Given the description of an element on the screen output the (x, y) to click on. 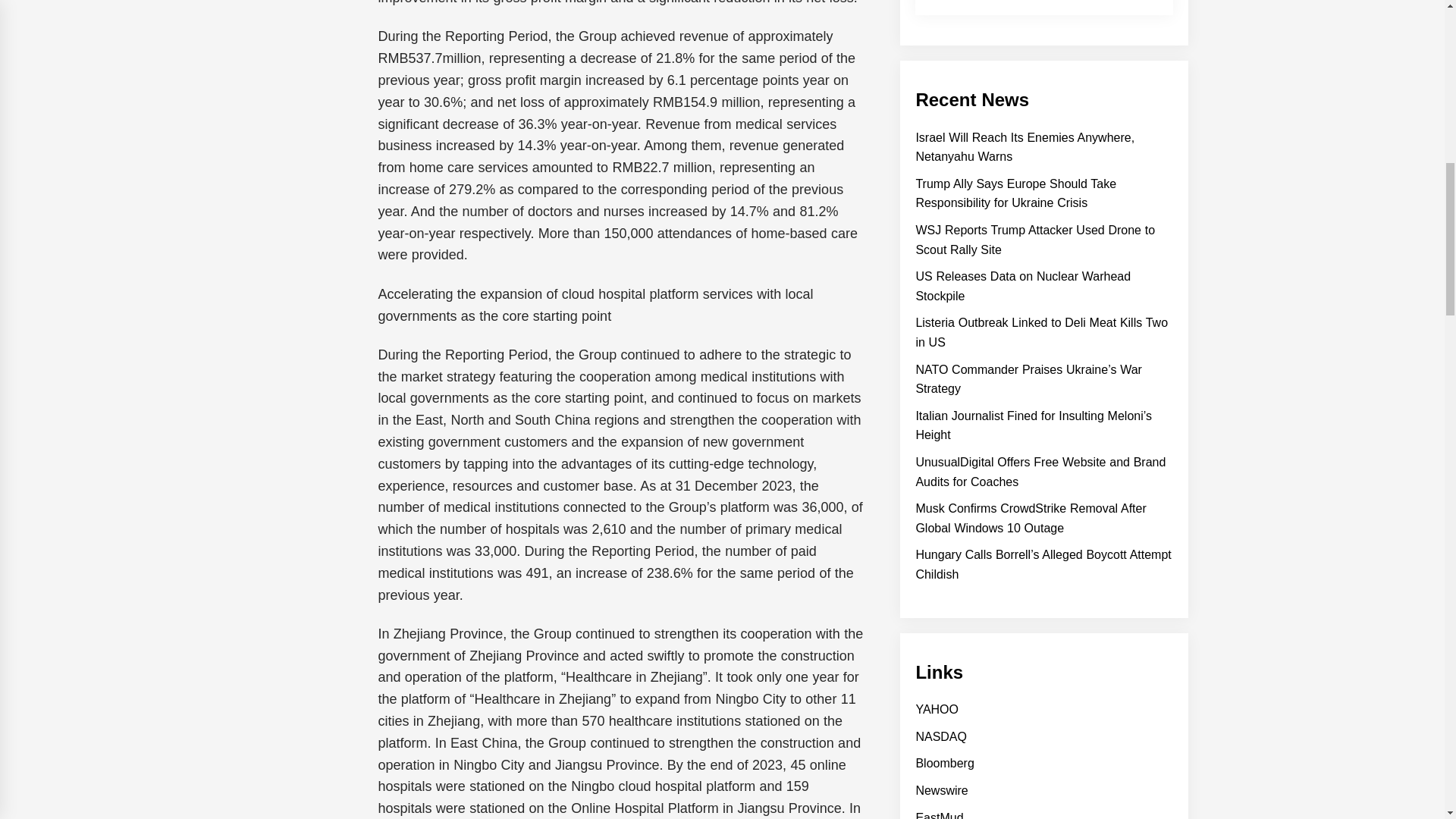
YAHOO (936, 708)
WSJ Reports Trump Attacker Used Drone to Scout Rally Site (1034, 239)
Israel Will Reach Its Enemies Anywhere, Netanyahu Warns (1024, 147)
Listeria Outbreak Linked to Deli Meat Kills Two in US (1041, 332)
US Releases Data on Nuclear Warhead Stockpile (1023, 286)
